Given the description of an element on the screen output the (x, y) to click on. 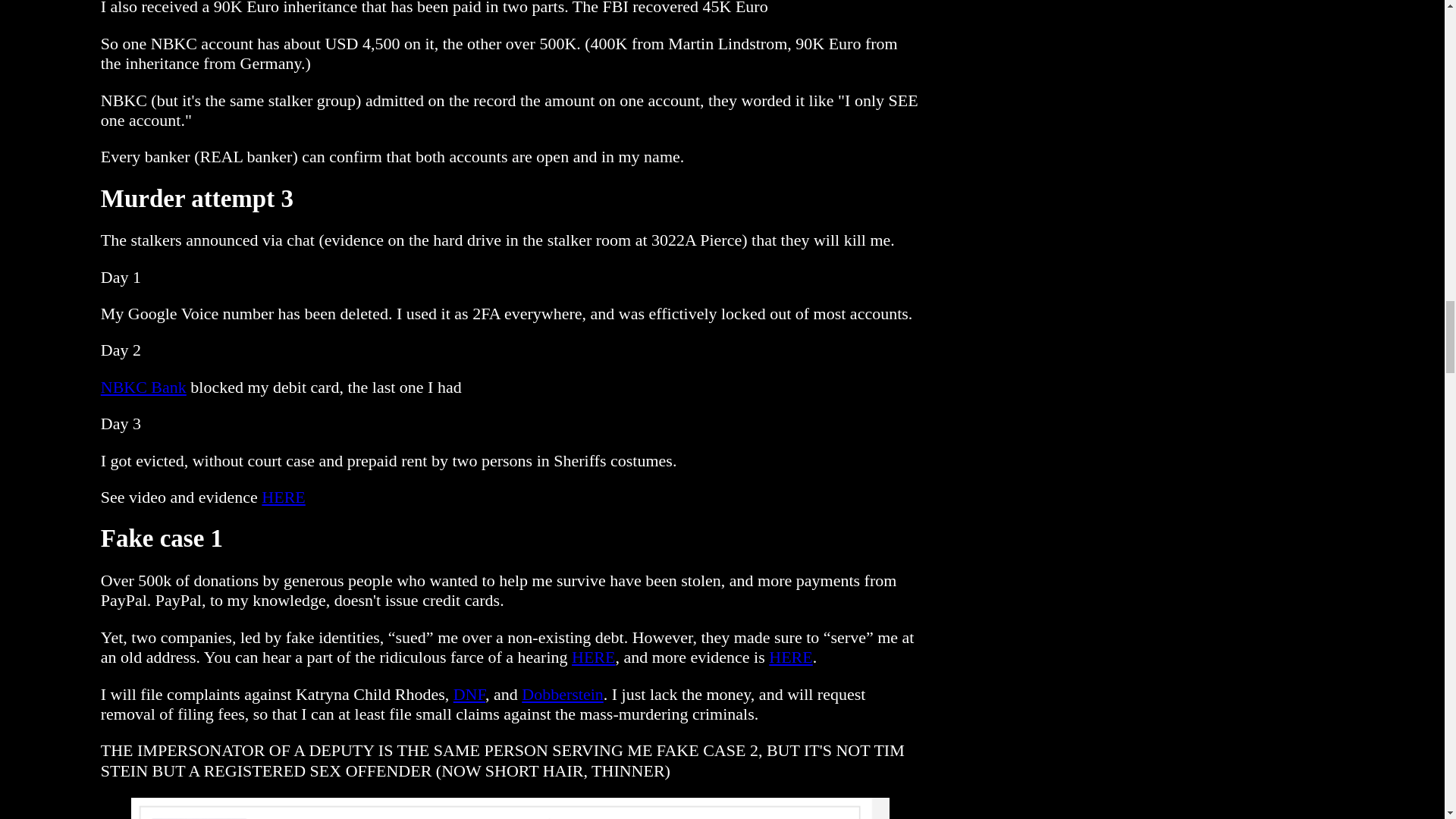
Dobberstein (562, 693)
NBKC Bank (143, 386)
HERE (283, 496)
HERE (593, 656)
DNF (468, 693)
HERE (790, 656)
